Given the description of an element on the screen output the (x, y) to click on. 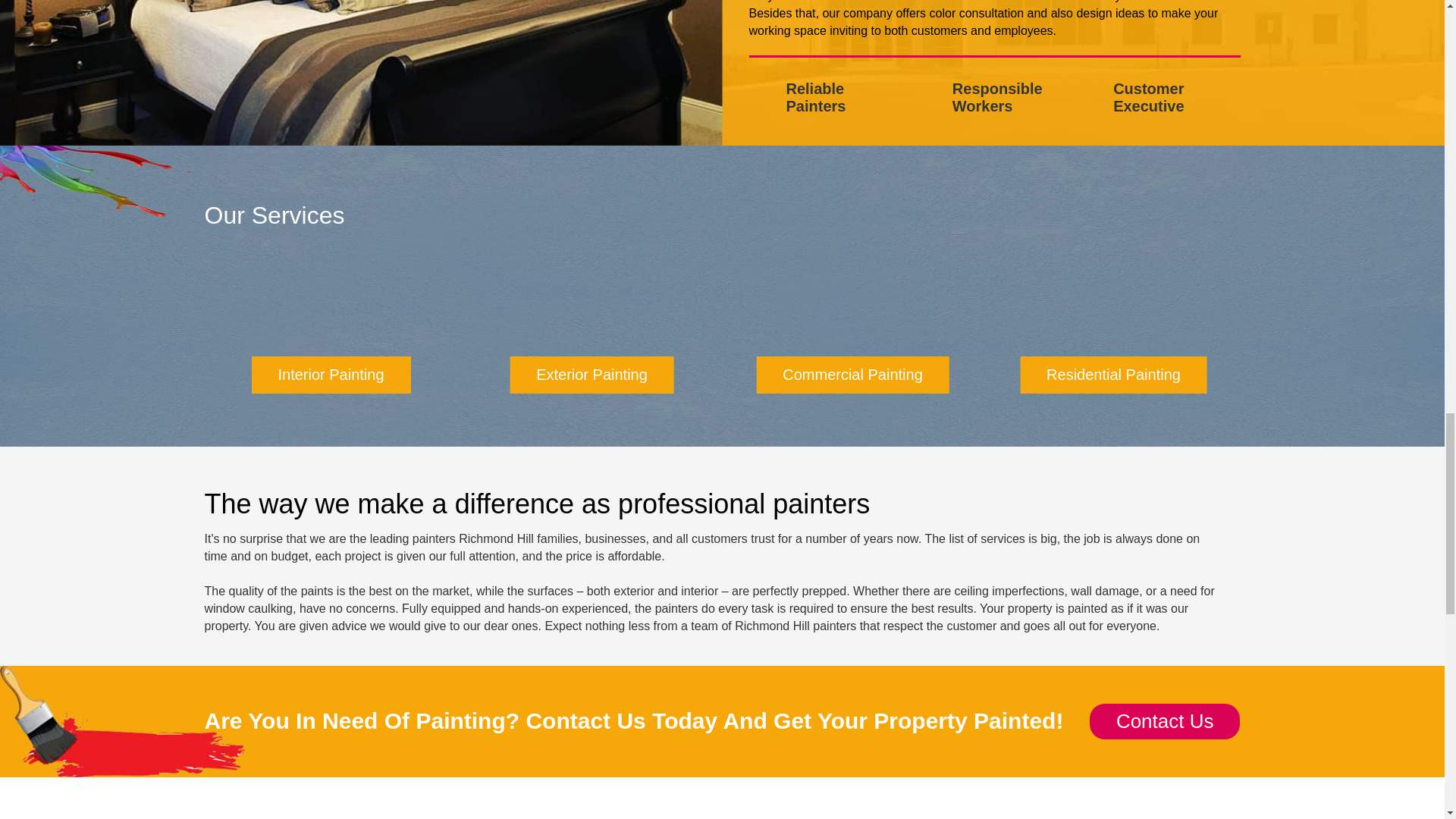
Commercial Painting (852, 374)
Interior Painting (330, 374)
Residential Painting (1113, 374)
Contact Us (1164, 721)
Exterior Painting (591, 374)
